Given the description of an element on the screen output the (x, y) to click on. 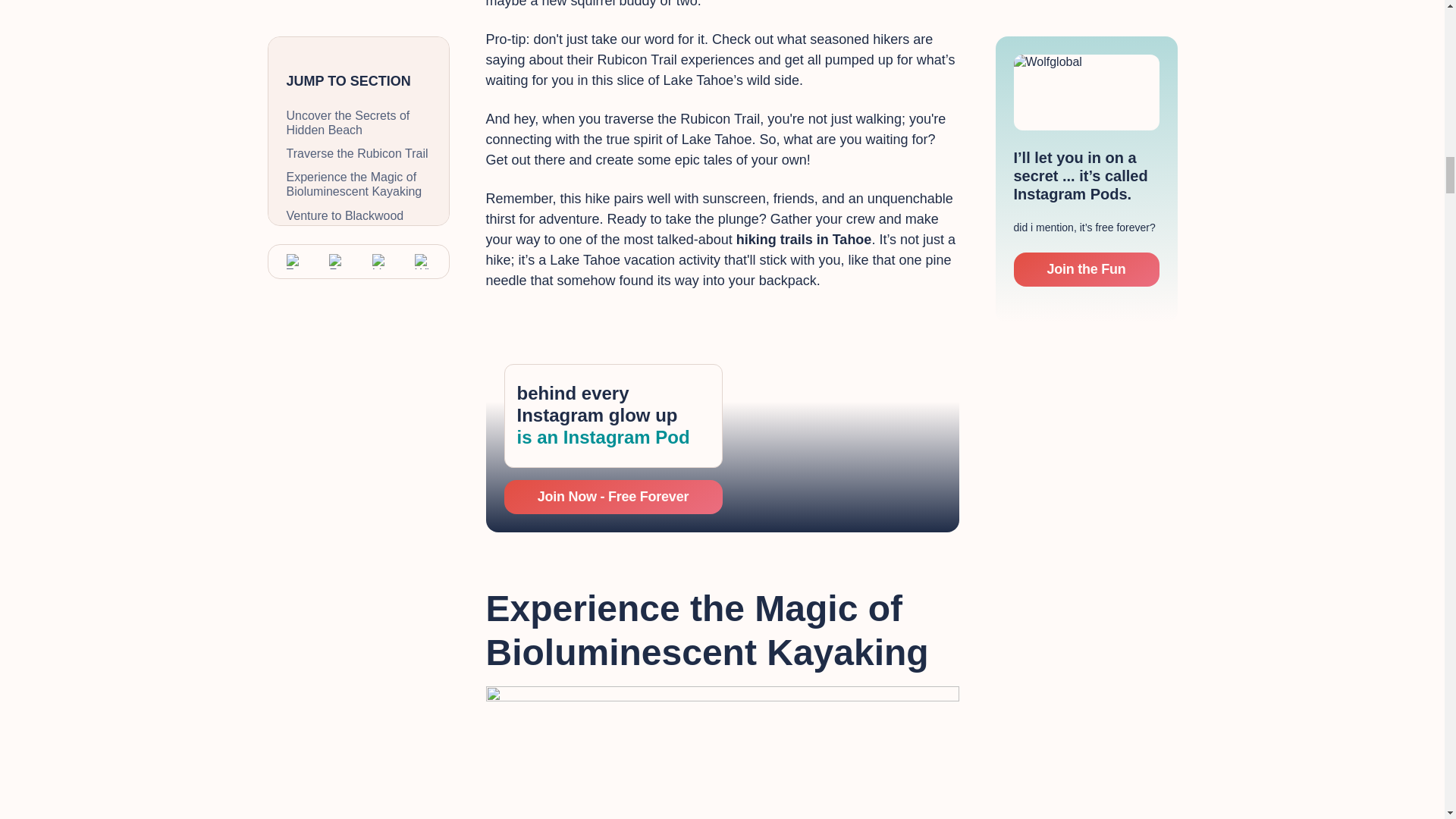
Join Now - Free Forever (612, 497)
